Given the description of an element on the screen output the (x, y) to click on. 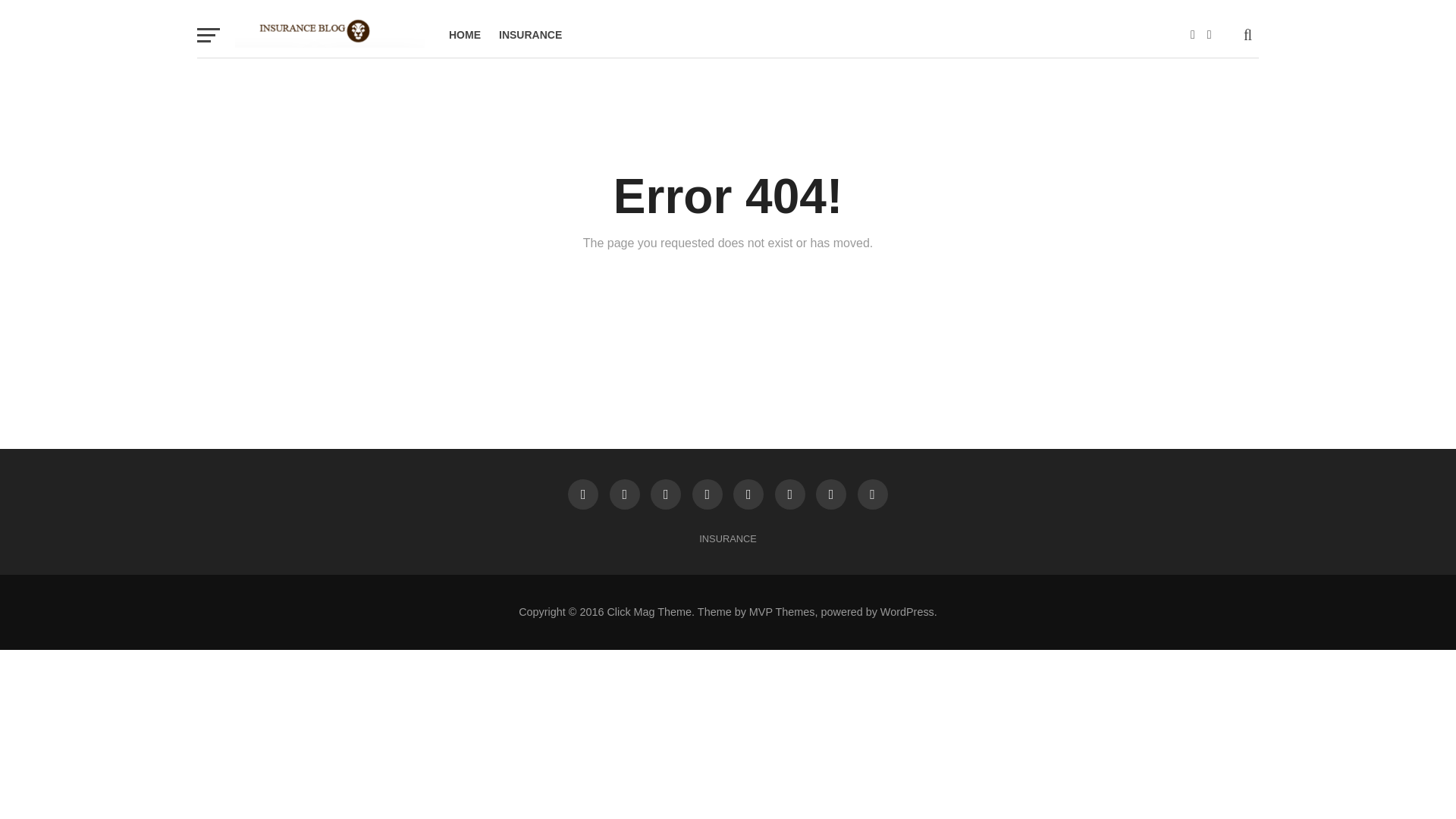
INSURANCE (529, 34)
INSURANCE (726, 538)
HOME (464, 34)
